Given the description of an element on the screen output the (x, y) to click on. 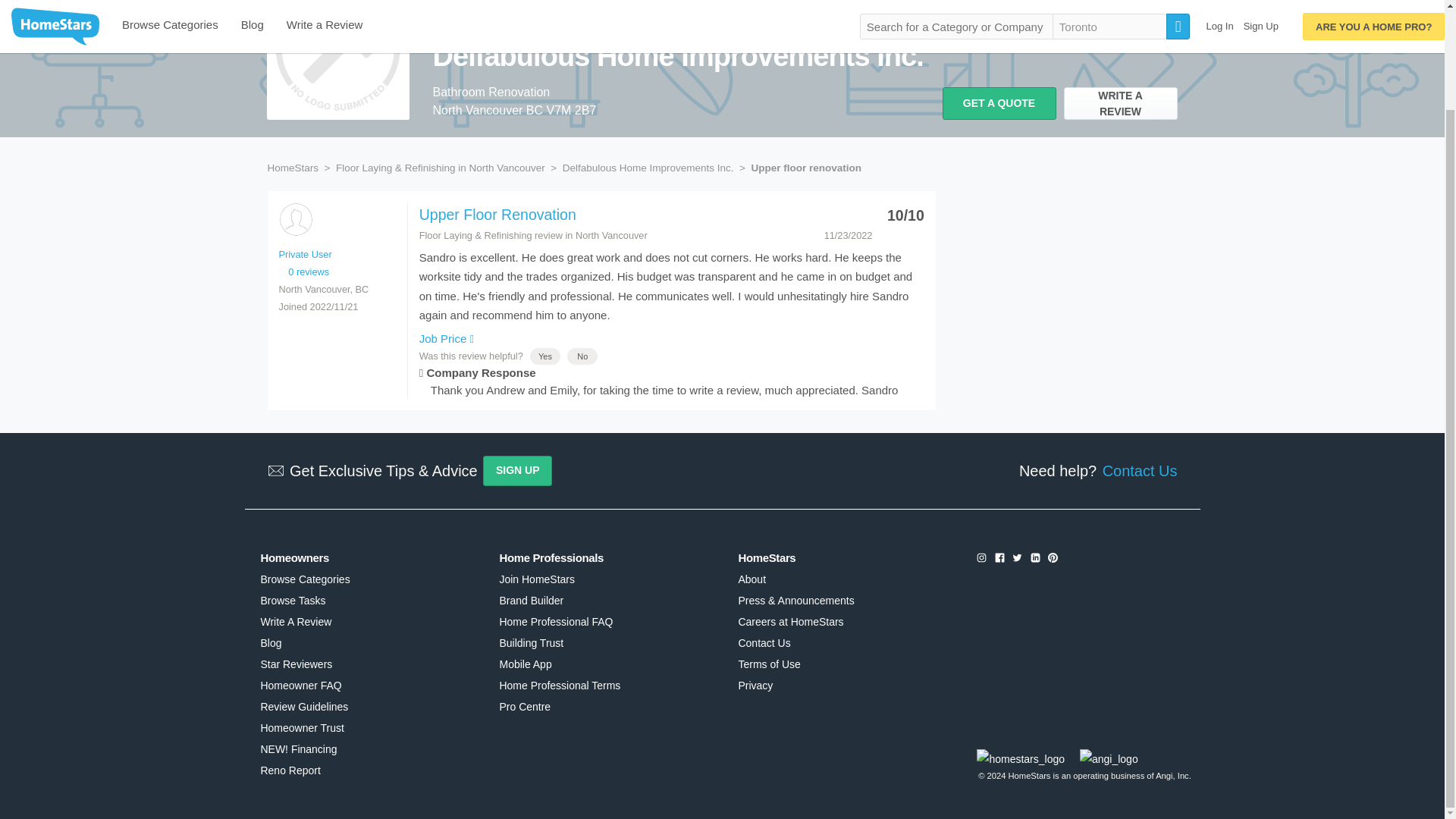
Building Trust (531, 643)
Delfabulous Home Improvements Inc.'s logo (337, 59)
Private User (295, 219)
Review Guidelines (303, 706)
Browse Tasks (292, 600)
Yes (545, 356)
Home Professional FAQ (555, 621)
Star Reviewers (295, 664)
SIGN UP (517, 470)
No (582, 356)
